Given the description of an element on the screen output the (x, y) to click on. 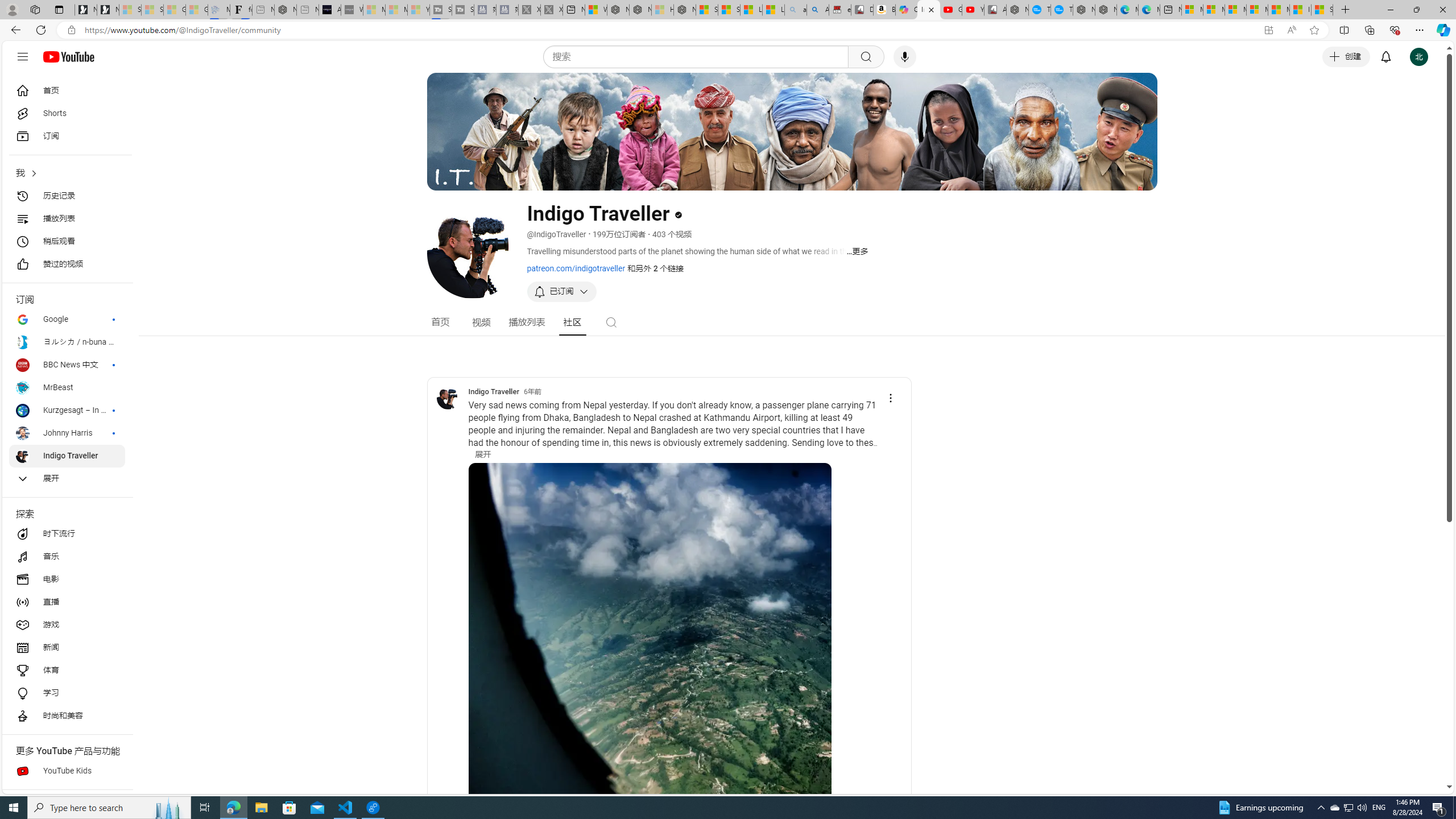
Nordace - Nordace Siena Is Not An Ordinary Backpack (684, 9)
What's the best AI voice generator? - voice.ai - Sleeping (352, 9)
